Given the description of an element on the screen output the (x, y) to click on. 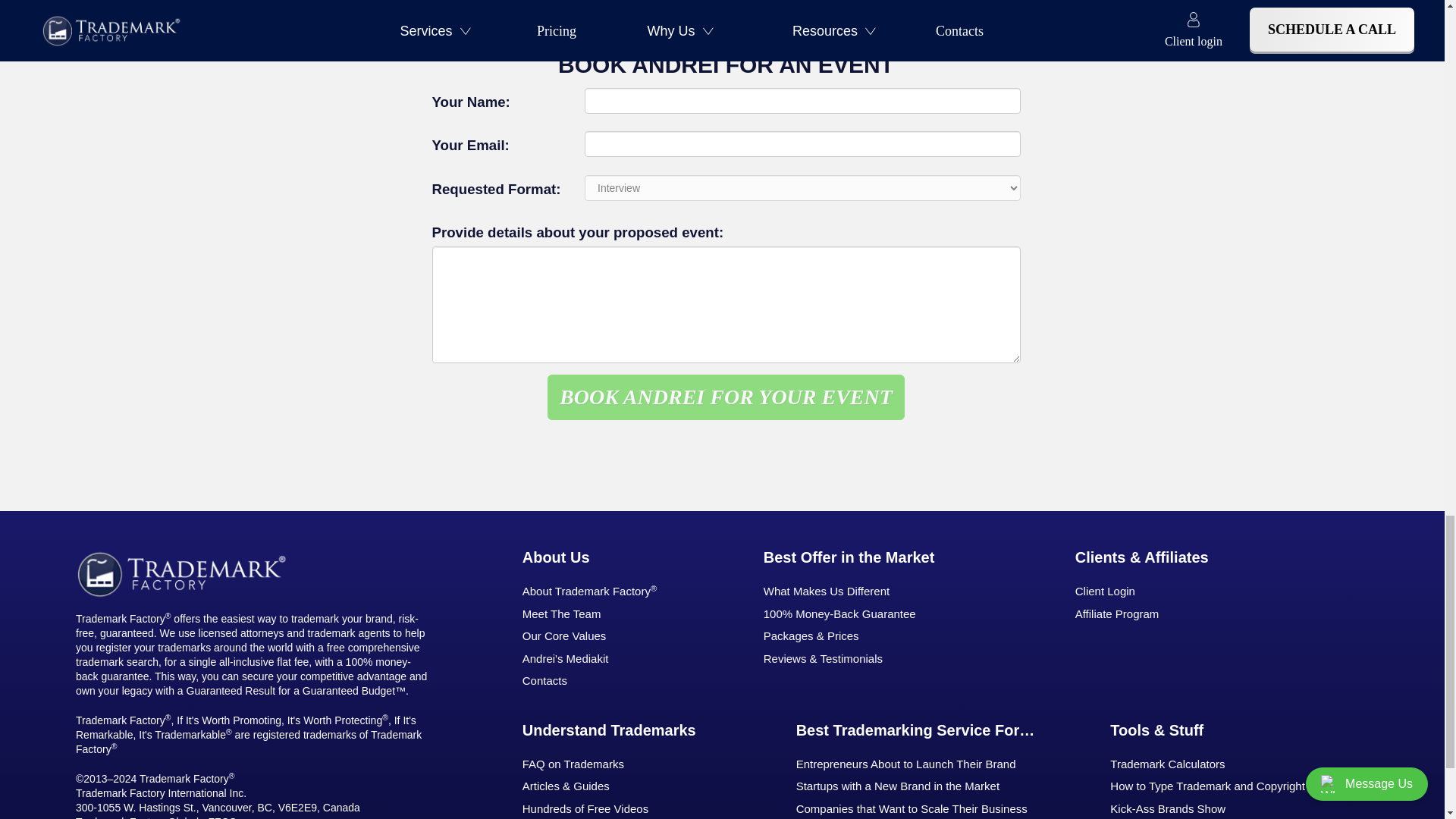
audiences of all sizes, ages, and industries (753, 2)
BOOK ANDREI FOR YOUR EVENT (725, 397)
Meet The Team (600, 614)
BOOK ANDREI FOR YOUR EVENT (725, 397)
